Given the description of an element on the screen output the (x, y) to click on. 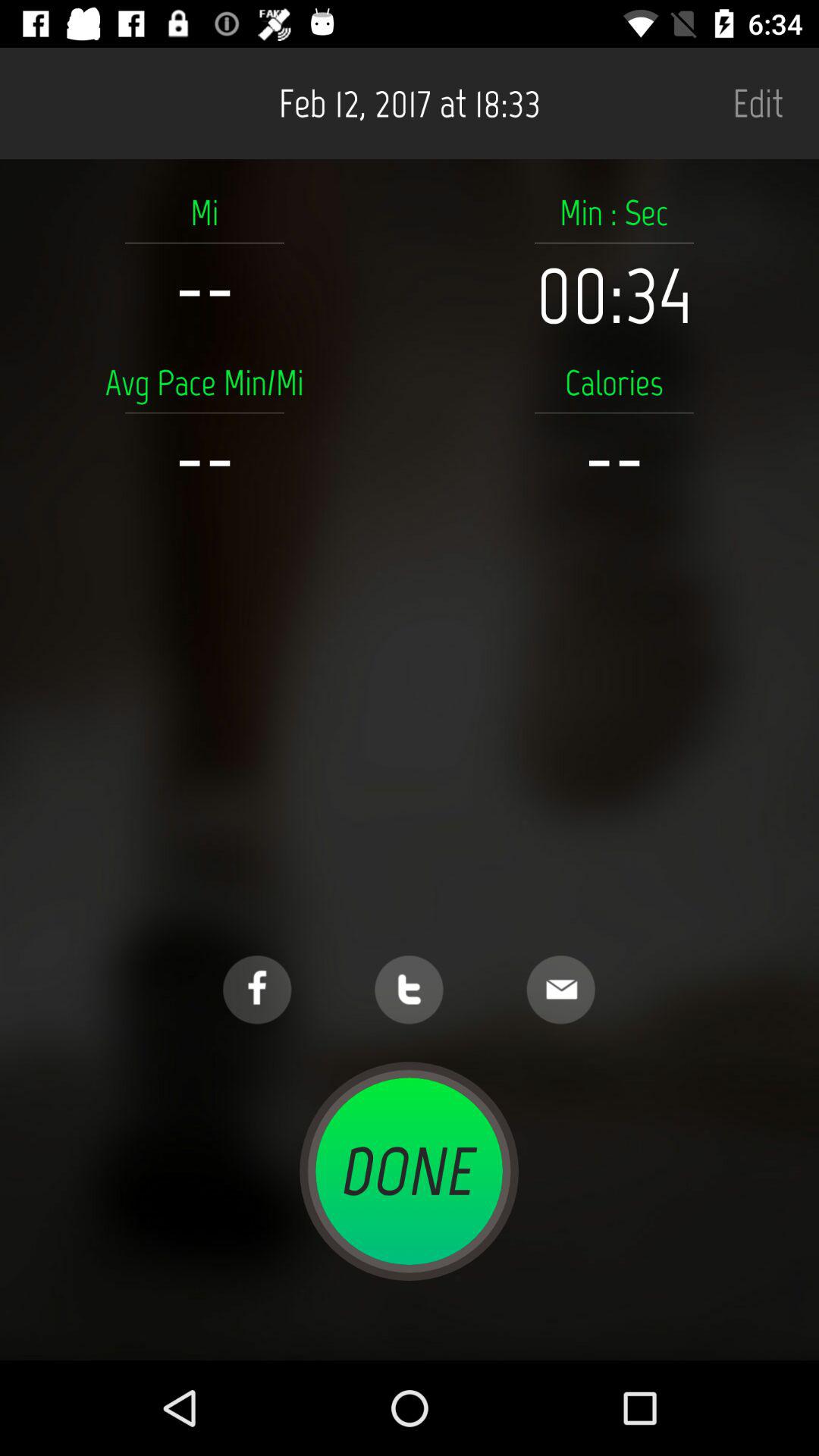
turn off item next to feb 12 2017 item (757, 103)
